Given the description of an element on the screen output the (x, y) to click on. 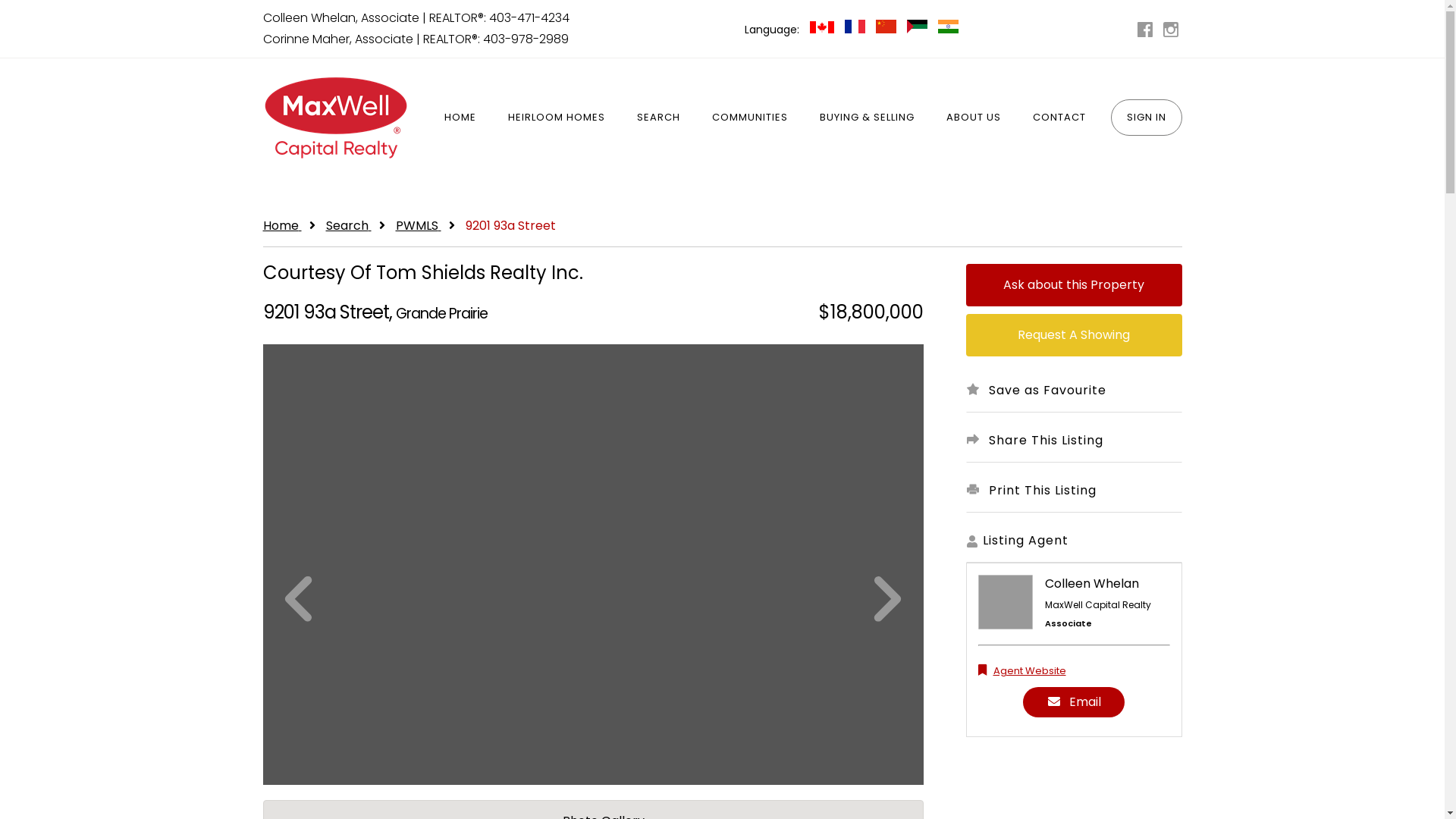
Ask about this Property Element type: text (1074, 284)
Print This Listing Element type: text (1074, 490)
Site Logo Element type: hover (334, 116)
Listing Agent Element type: text (1074, 540)
HOME Element type: text (459, 116)
Email Element type: text (1074, 715)
Search Element type: text (348, 225)
Share This Listing Element type: text (1074, 440)
Hindi Element type: hover (947, 28)
ABOUT US Element type: text (972, 116)
Agent Website Element type: text (1022, 670)
COMMUNITIES Element type: text (749, 116)
SIGN IN Element type: text (1145, 116)
Home Element type: text (281, 225)
Email Element type: text (1073, 702)
English Canadian Element type: text (823, 28)
HEIRLOOM HOMES Element type: text (555, 116)
Arabic Element type: hover (918, 28)
CONTACT Element type: text (1058, 116)
SEARCH Element type: text (657, 116)
Save as Favourite Element type: text (1074, 390)
Chinese Element type: text (886, 28)
Request A Showing Element type: text (1074, 334)
PWMLS Element type: text (418, 225)
French Element type: hover (856, 28)
BUYING & SELLING Element type: text (866, 116)
